Given the description of an element on the screen output the (x, y) to click on. 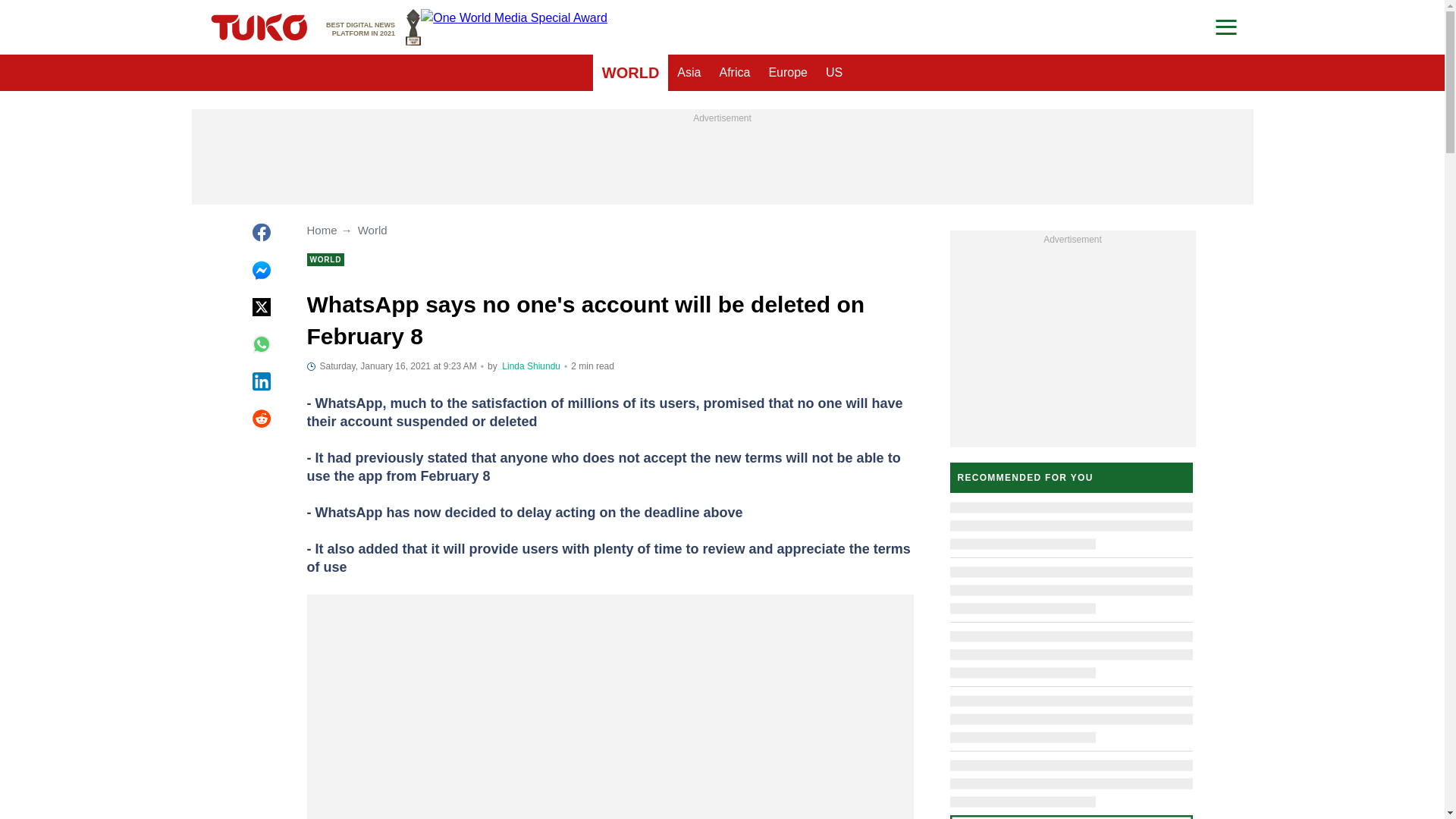
Asia (689, 72)
Author page (531, 366)
Europe (787, 72)
US (833, 72)
WORLD (630, 72)
Africa (373, 27)
